Given the description of an element on the screen output the (x, y) to click on. 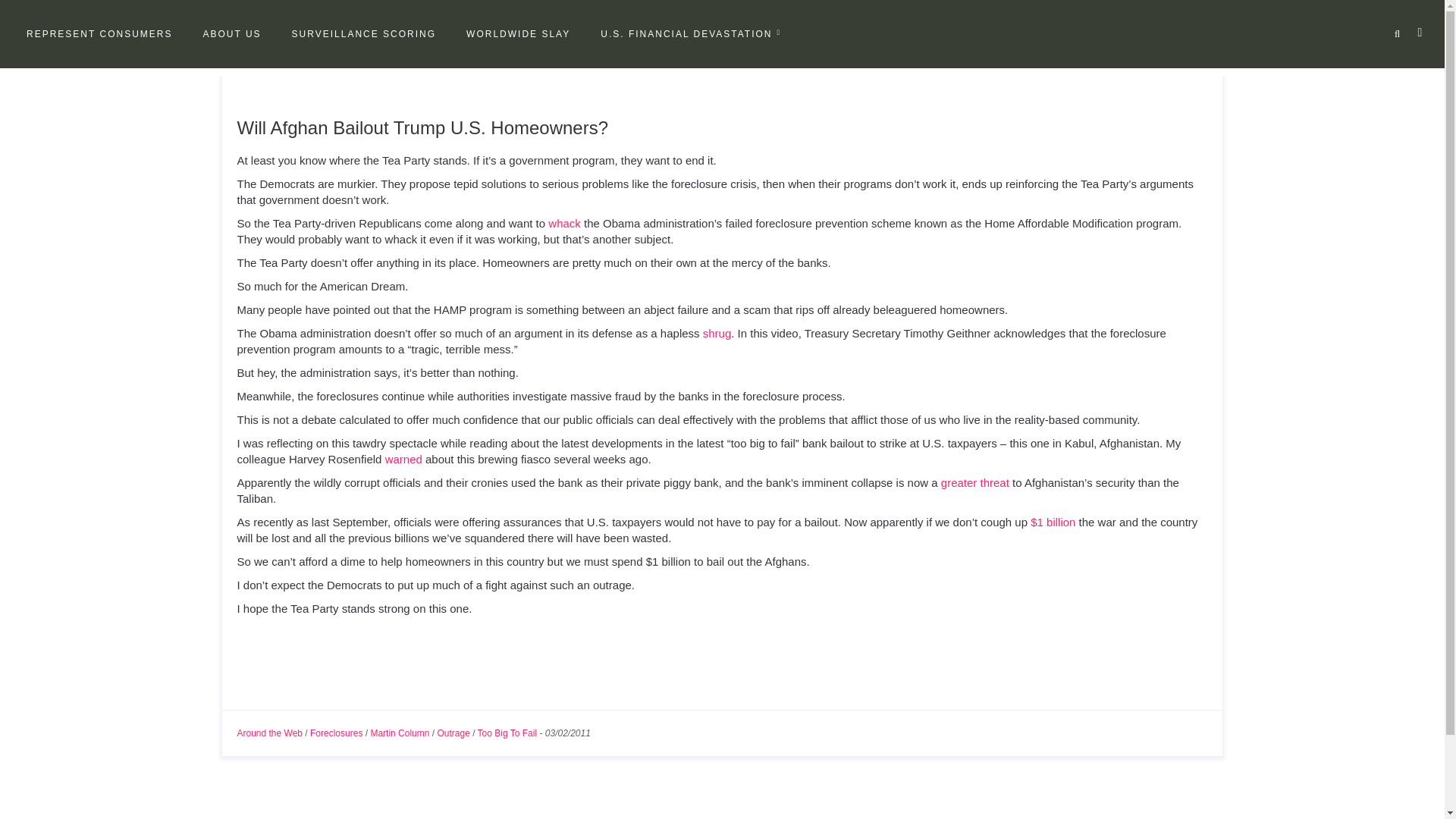
whack (564, 223)
Martin Column (399, 733)
Around the Web (268, 733)
ABOUT US (231, 33)
SURVEILLANCE SCORING (364, 33)
U.S. FINANCIAL DEVASTATION (690, 33)
Too Big To Fail (507, 733)
Will Afghan Bailout Trump U.S. Homeowners? (421, 127)
greater threat (974, 481)
Outrage (452, 733)
Foreclosures (336, 733)
warned (403, 459)
shrug (717, 332)
REPRESENT CONSUMERS (98, 33)
WORLDWIDE SLAY (517, 33)
